Given the description of an element on the screen output the (x, y) to click on. 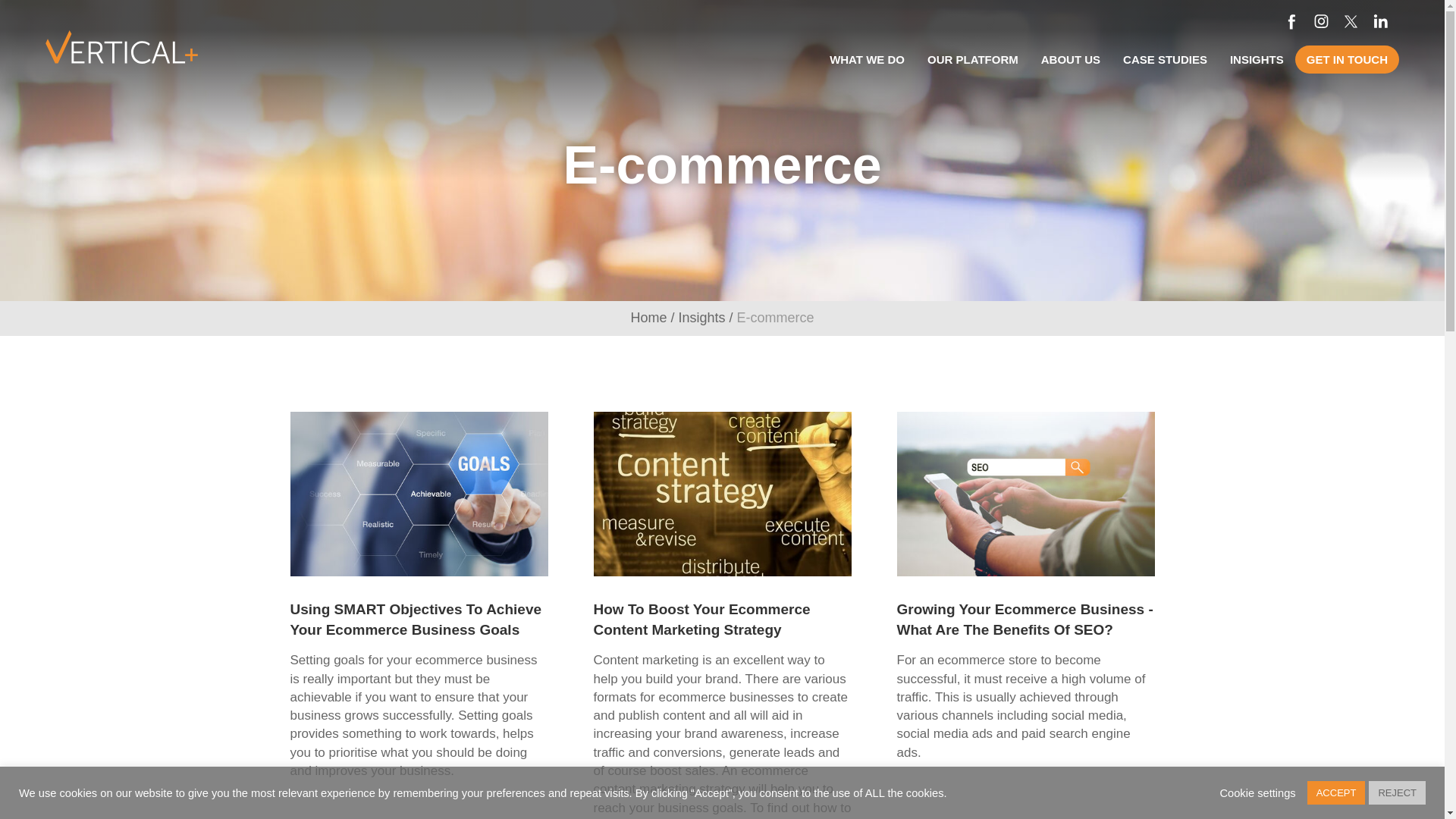
Home (648, 317)
WHAT WE DO (866, 59)
CASE STUDIES (1165, 59)
ABOUT US (1070, 59)
OUR PLATFORM (972, 59)
Follow us on facebook (1291, 20)
INSIGHTS (1256, 59)
GET IN TOUCH (1347, 59)
Follow us on Instagram (1320, 20)
Insights (701, 317)
